Given the description of an element on the screen output the (x, y) to click on. 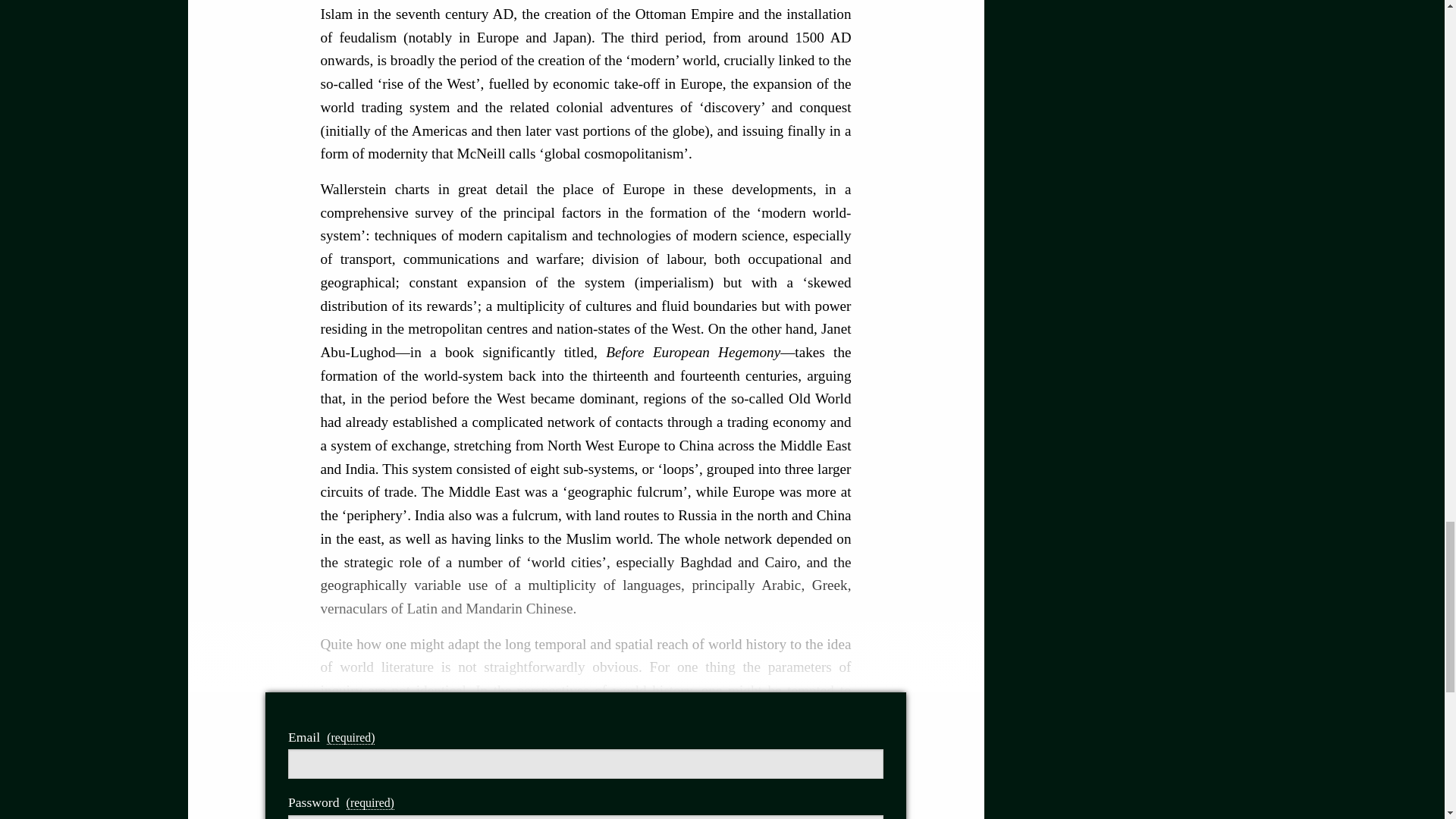
you must complete this field (370, 802)
you must complete this field (350, 737)
